Given the description of an element on the screen output the (x, y) to click on. 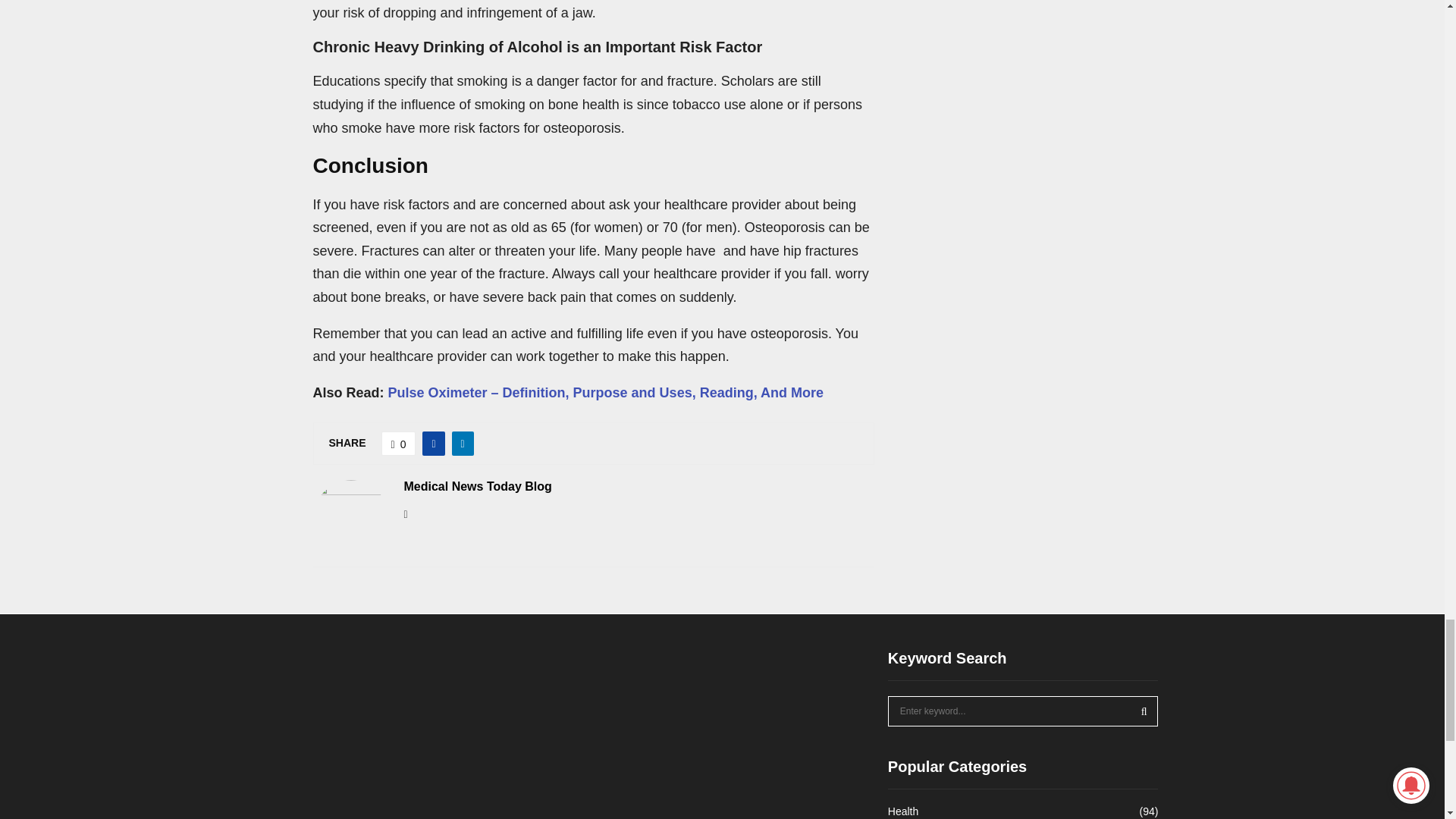
Like (398, 443)
